Given the description of an element on the screen output the (x, y) to click on. 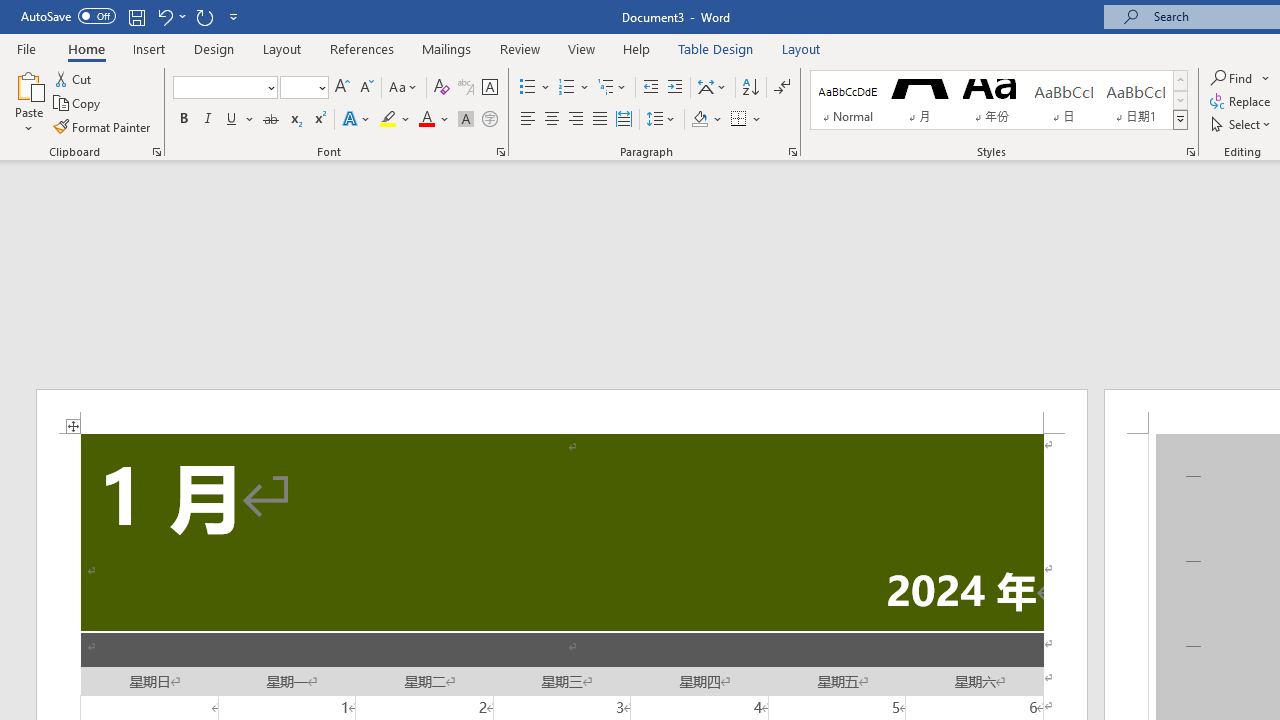
Asian Layout (712, 87)
Justify (599, 119)
Undo Apply Quick Style (164, 15)
Show/Hide Editing Marks (781, 87)
Undo Apply Quick Style (170, 15)
Change Case (404, 87)
